Given the description of an element on the screen output the (x, y) to click on. 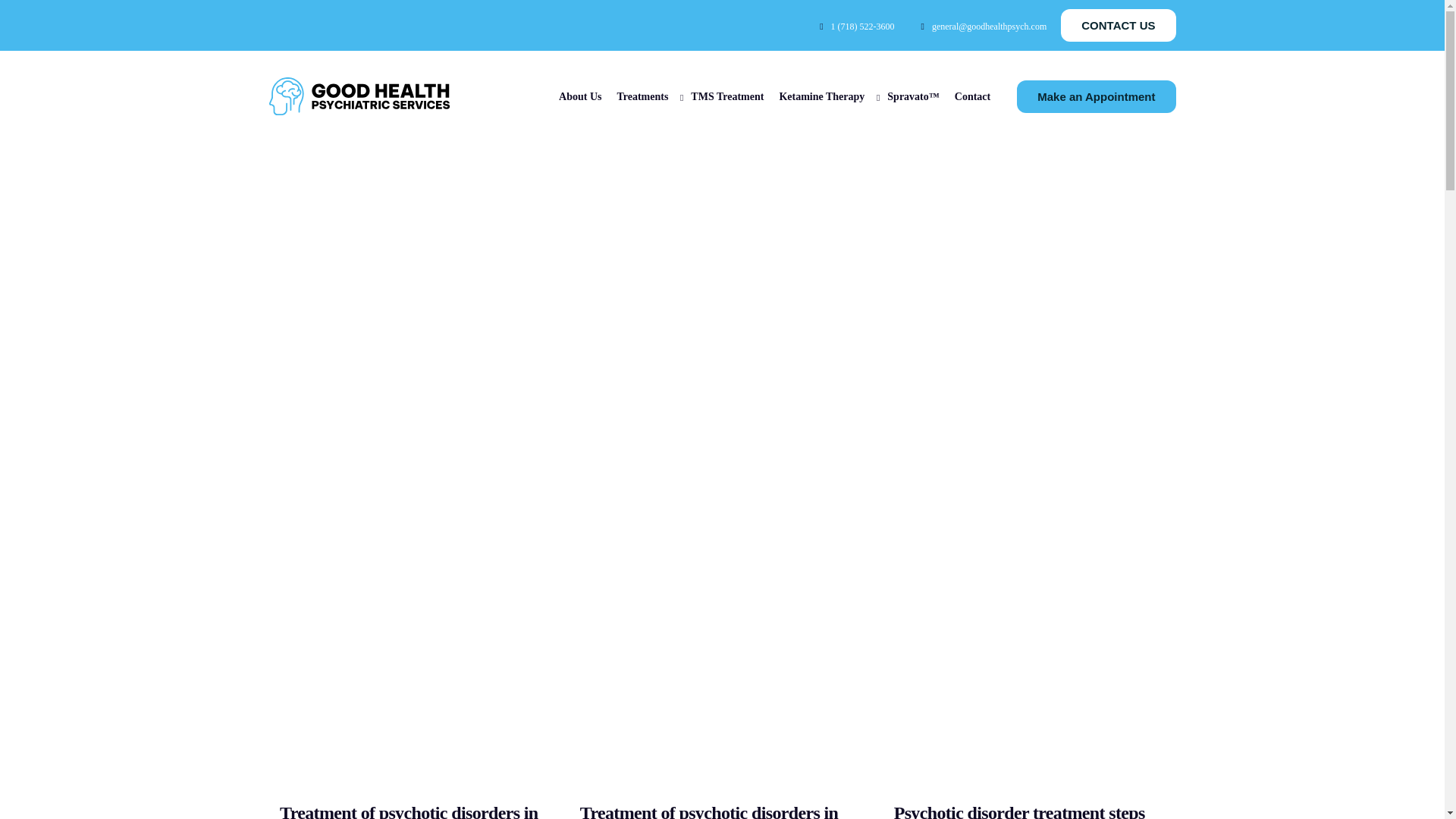
Make an Appointment (1095, 96)
CONTACT US (1117, 25)
TMS Treatment (726, 96)
Ketamine Therapy (825, 96)
